Given the description of an element on the screen output the (x, y) to click on. 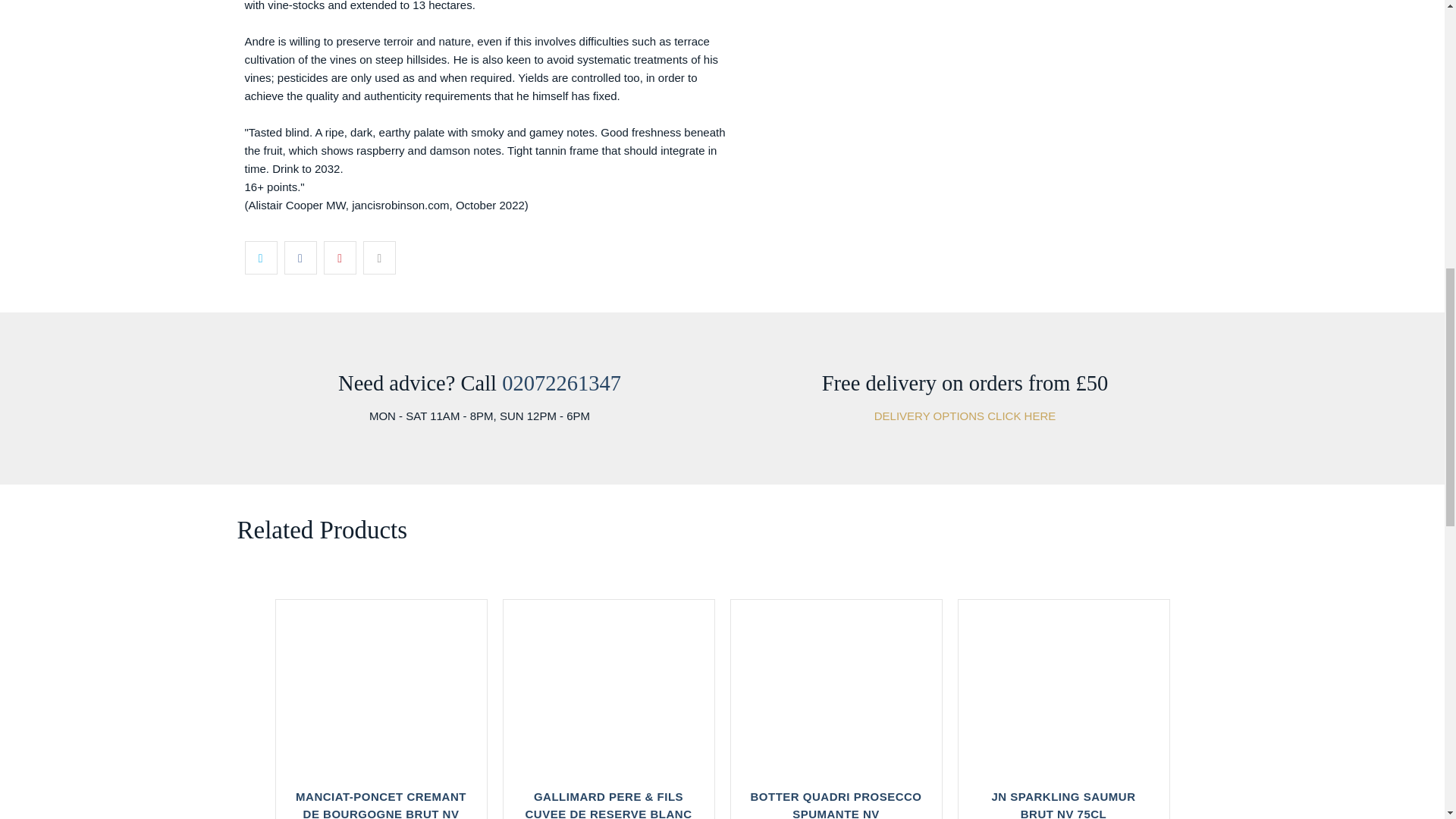
Email this to a friend (379, 257)
Share this on Pinterest (339, 257)
Share this on Twitter (260, 257)
Share this on Facebook (300, 257)
